Given the description of an element on the screen output the (x, y) to click on. 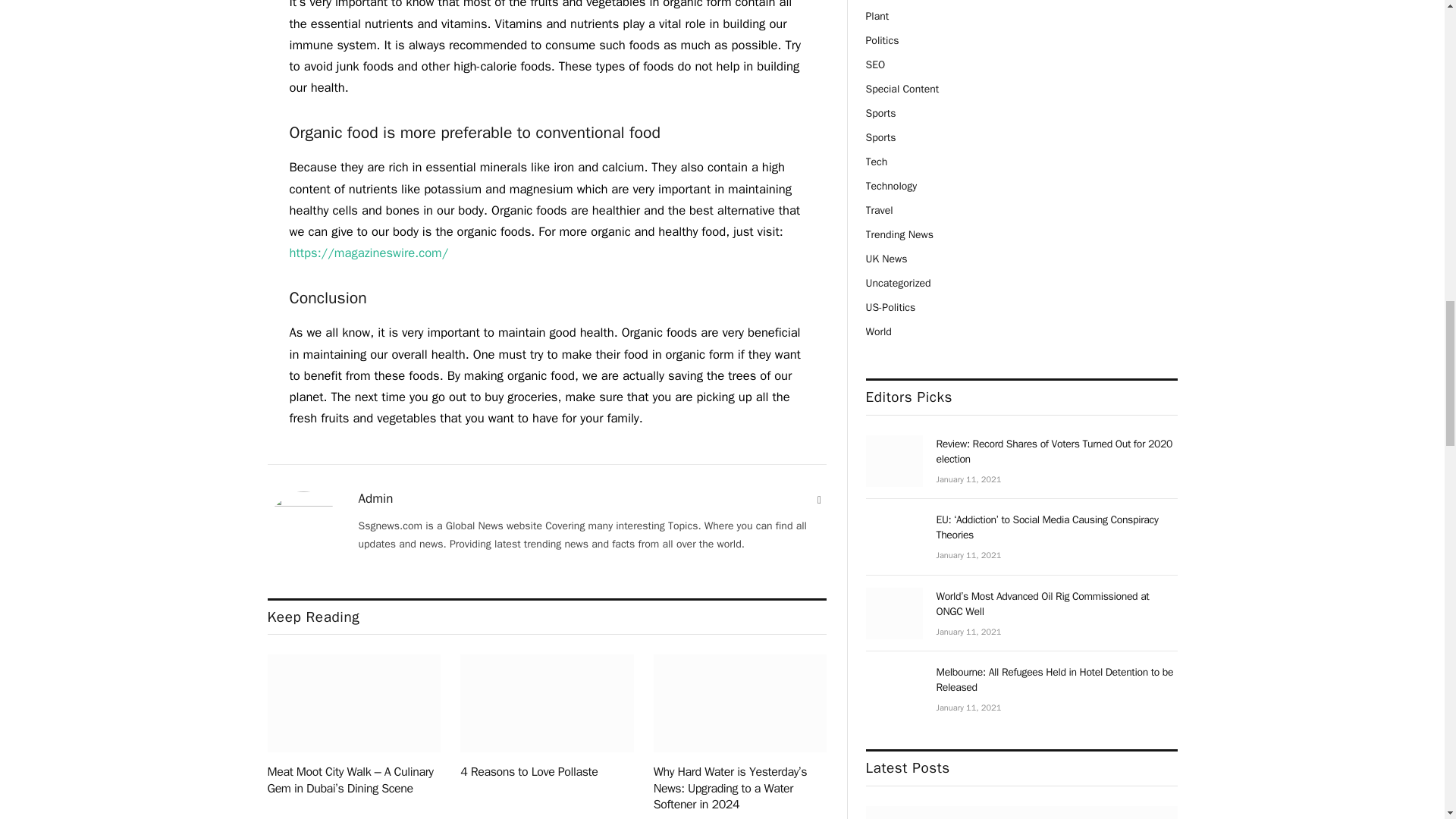
Posts by Admin (375, 498)
Website (818, 500)
